Given the description of an element on the screen output the (x, y) to click on. 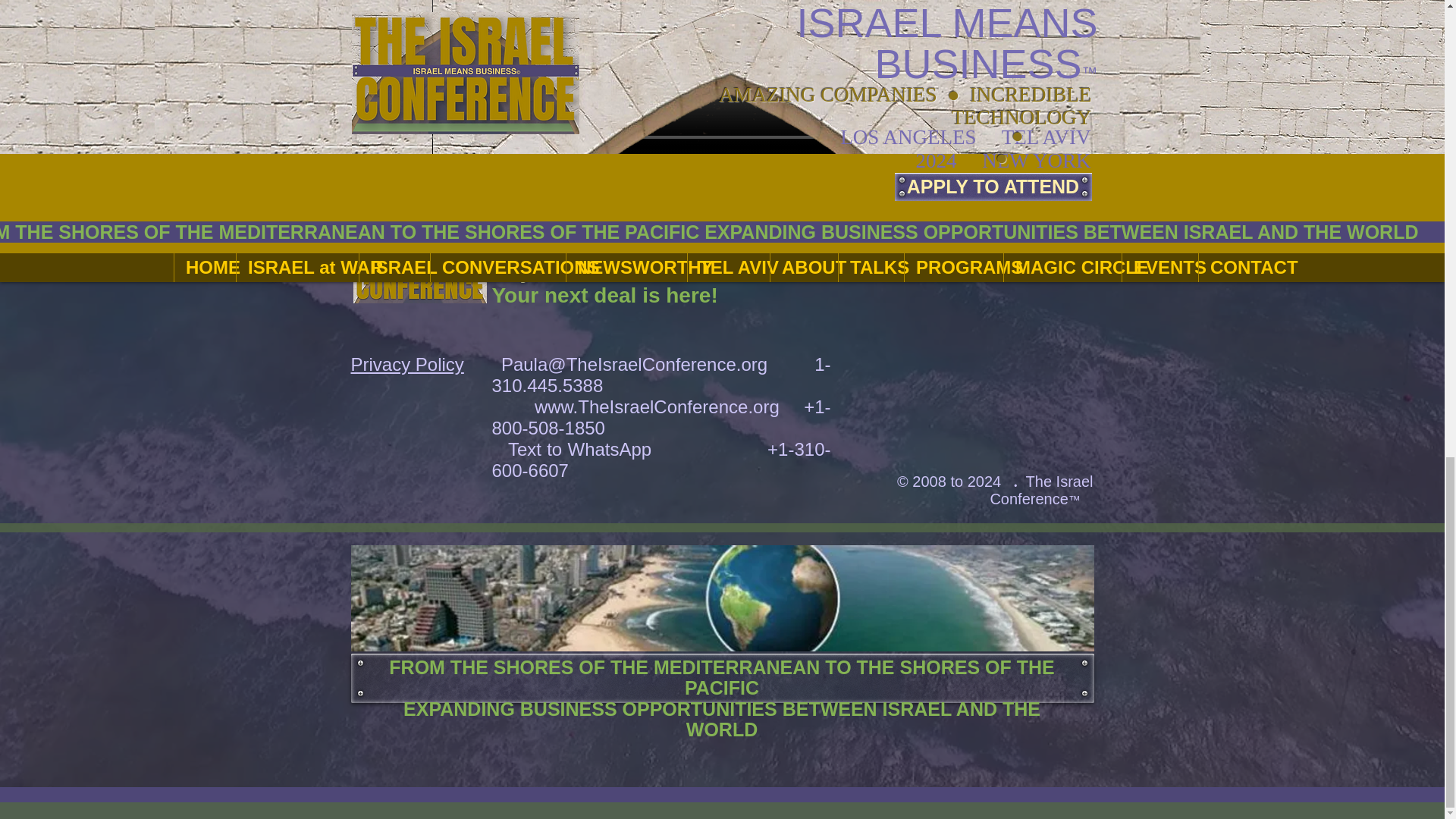
www.TheIsraelConference.org (656, 406)
Privacy Policy (406, 363)
Send (974, 73)
